Given the description of an element on the screen output the (x, y) to click on. 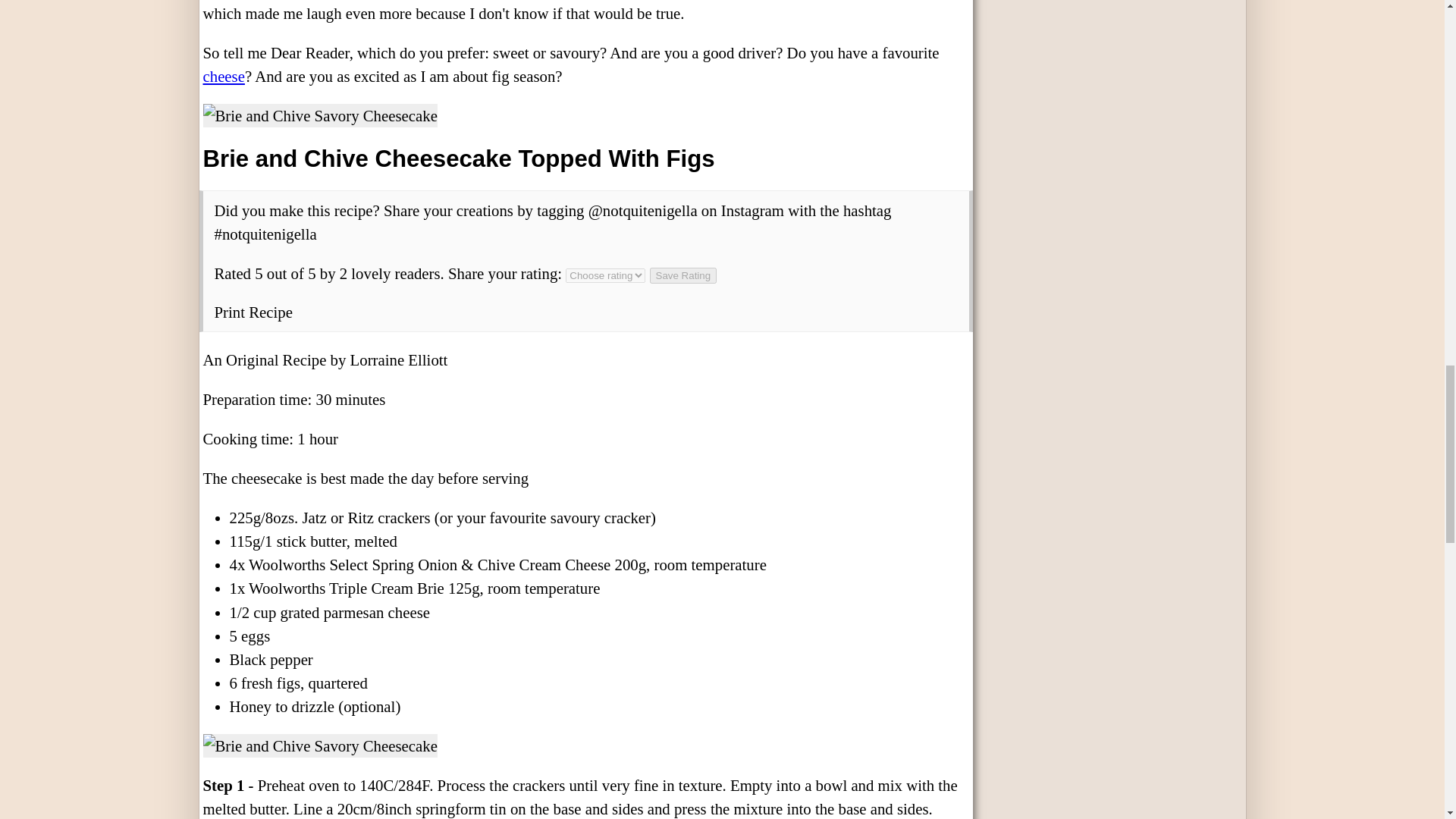
cheese (223, 76)
Save Rating (683, 275)
Print Recipe (253, 312)
